Given the description of an element on the screen output the (x, y) to click on. 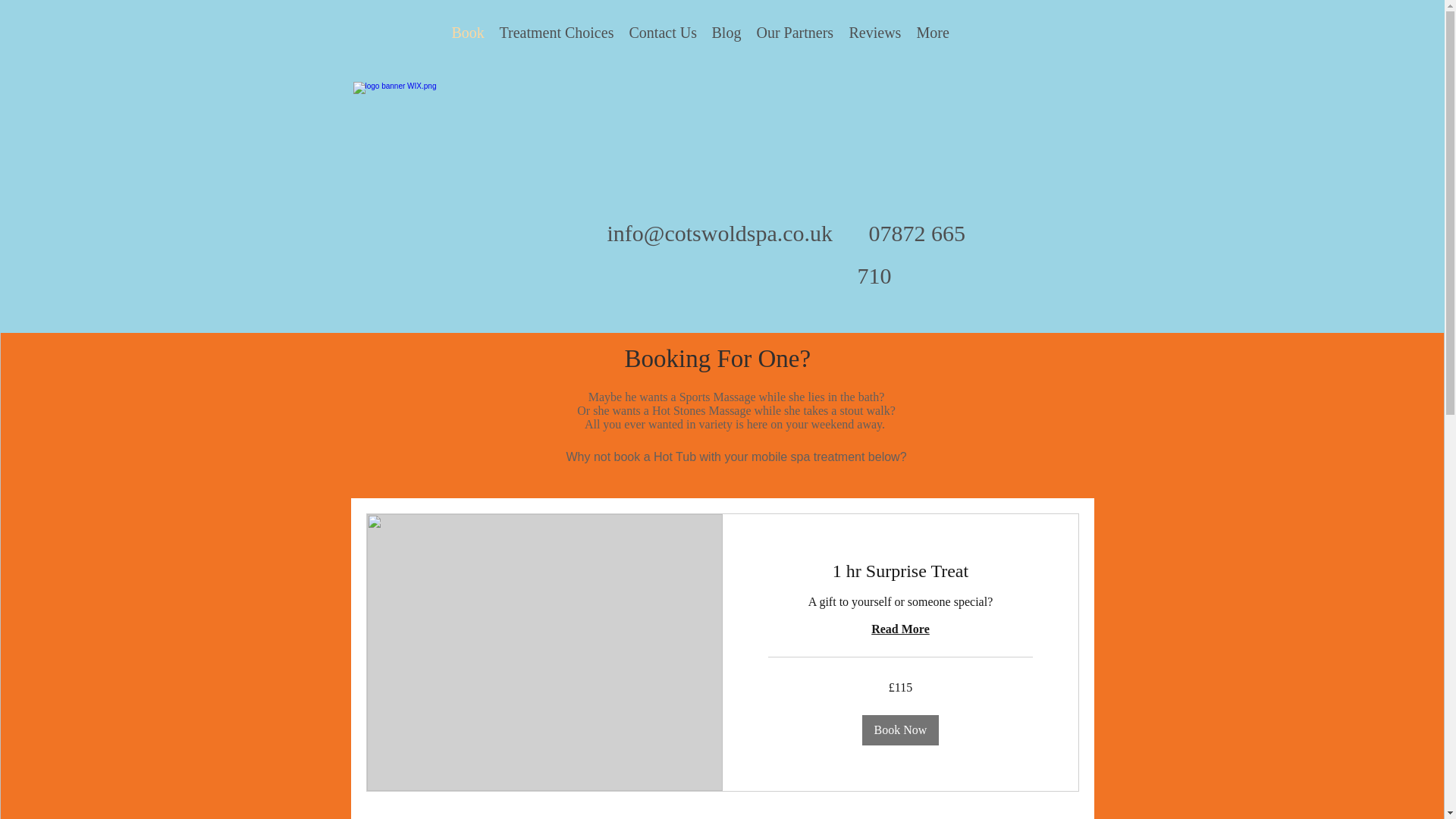
Contact Us (662, 32)
Treatment Choices (556, 32)
Reviews (874, 32)
Book Now (900, 729)
Book (468, 32)
Read More (899, 628)
Cotswold spa organic mobile spa treatments  (721, 146)
1 hr Surprise Treat (899, 571)
Blog (725, 32)
Our Partners (795, 32)
